Given the description of an element on the screen output the (x, y) to click on. 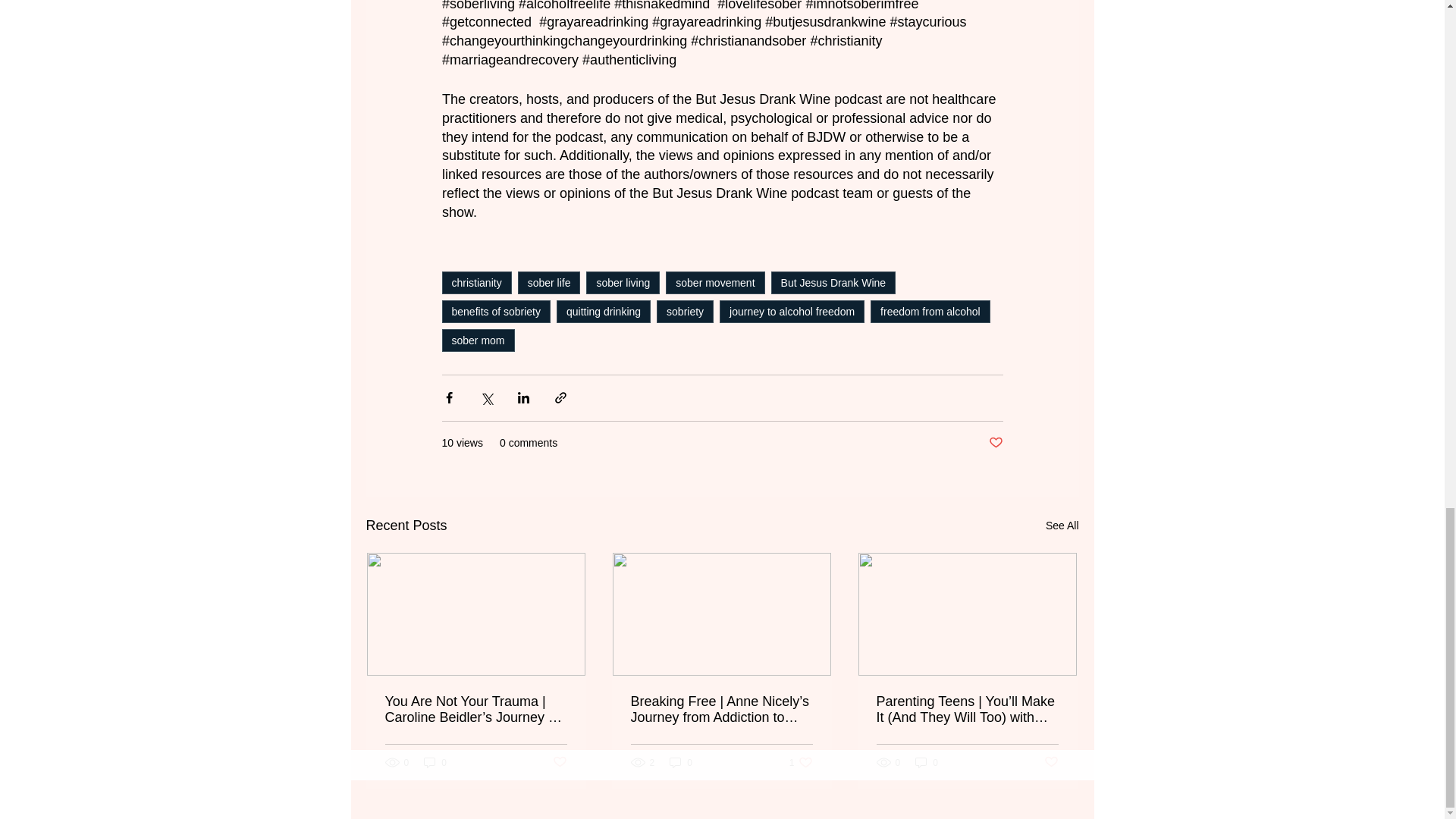
benefits of sobriety (495, 311)
christianity (476, 282)
sober life (549, 282)
sober movement (714, 282)
sober living (622, 282)
quitting drinking (603, 311)
But Jesus Drank Wine (833, 282)
